Given the description of an element on the screen output the (x, y) to click on. 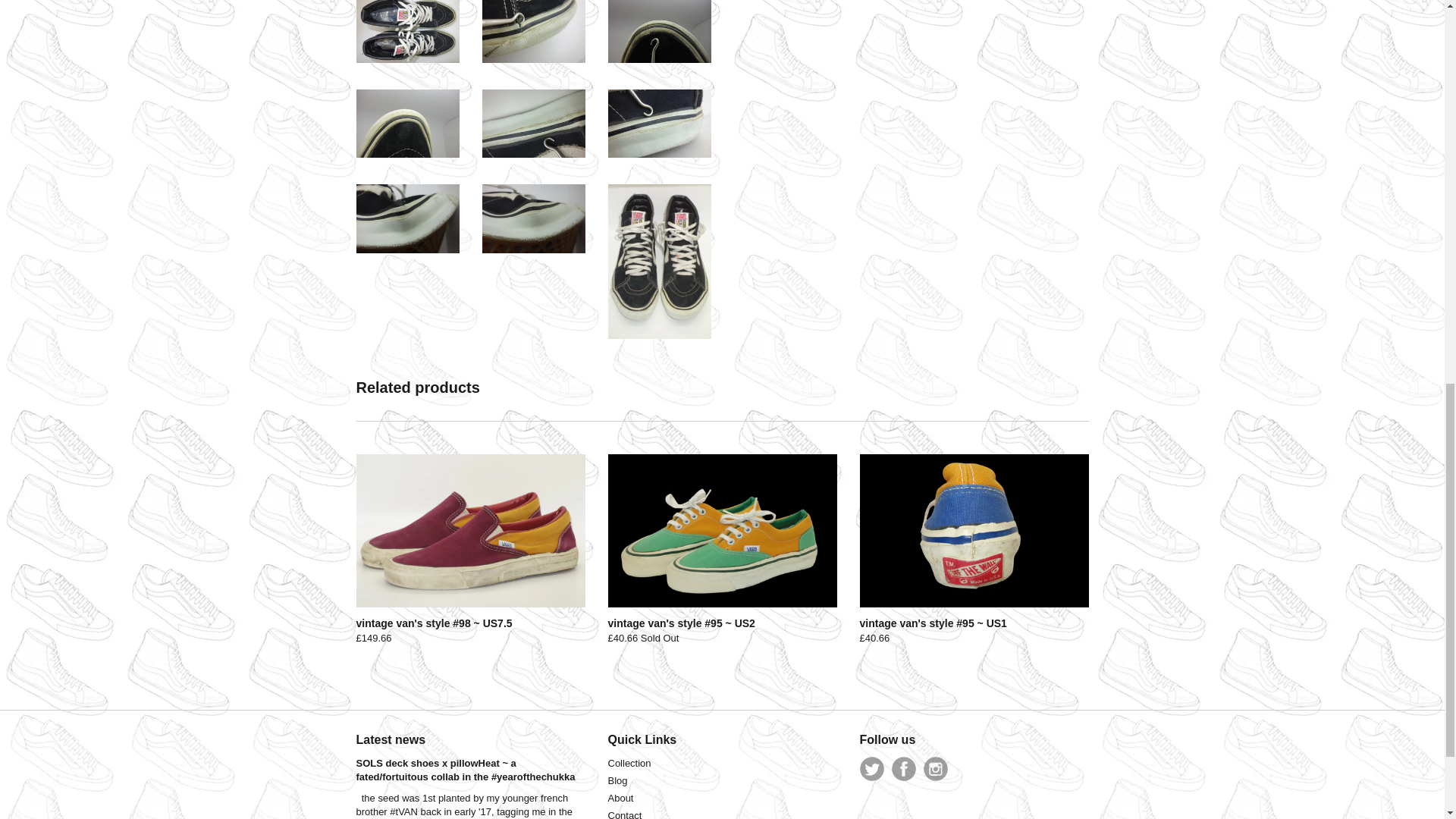
Contact (625, 814)
theothersideofthepillow on Facebook (903, 768)
theothersideofthepillow on Instagram (935, 768)
Blog (617, 780)
About (620, 797)
Collection (629, 763)
Collection (629, 763)
Latest news (391, 739)
theothersideofthepillow on Twitter (871, 768)
